Given the description of an element on the screen output the (x, y) to click on. 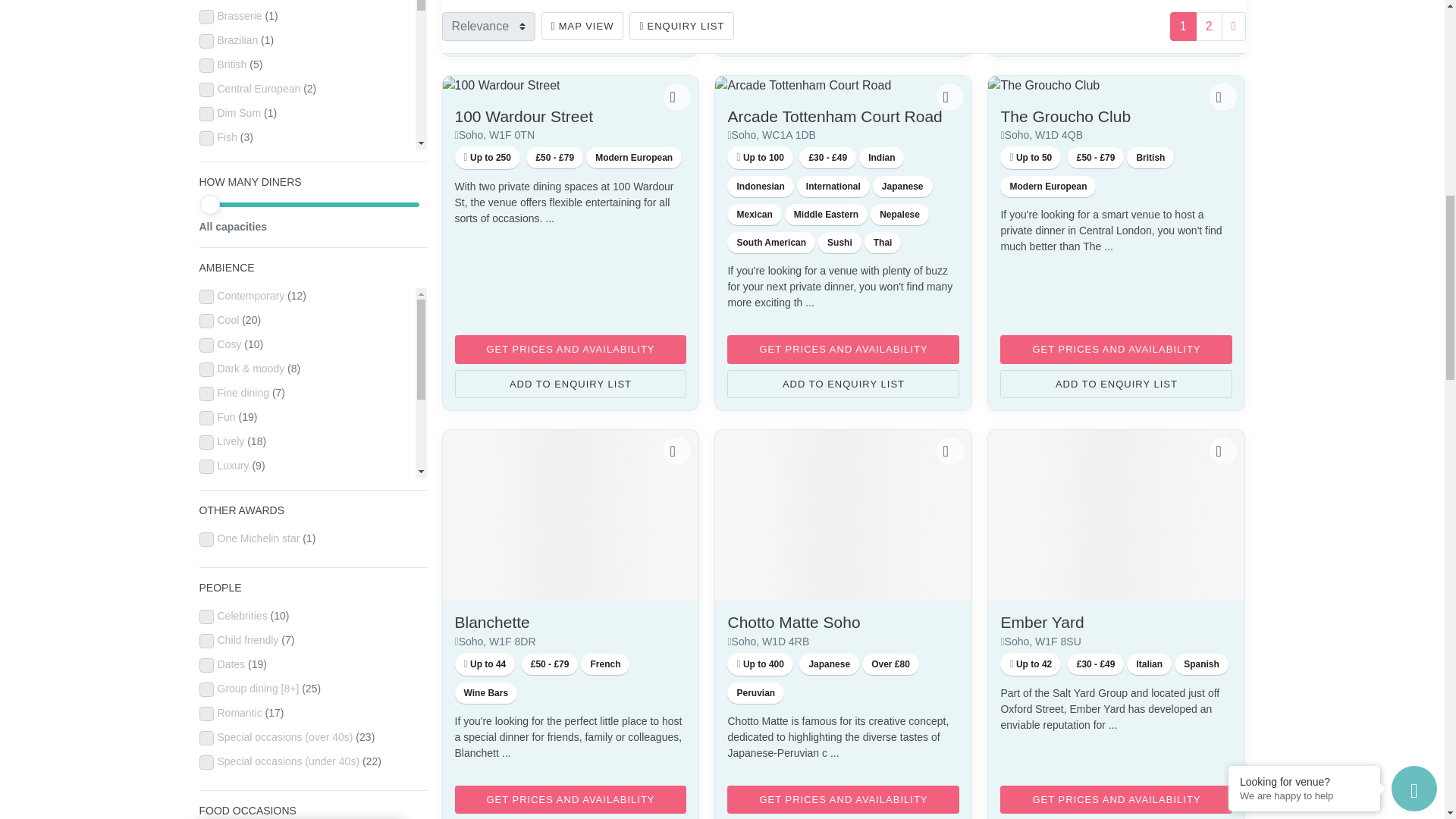
International (832, 186)
Indonesian (759, 186)
Nepalese (899, 214)
Sushi (839, 242)
Mexican (753, 214)
Middle Eastern (825, 214)
Indian (881, 157)
Japanese (902, 186)
Modern European (633, 157)
South American (770, 242)
